Given the description of an element on the screen output the (x, y) to click on. 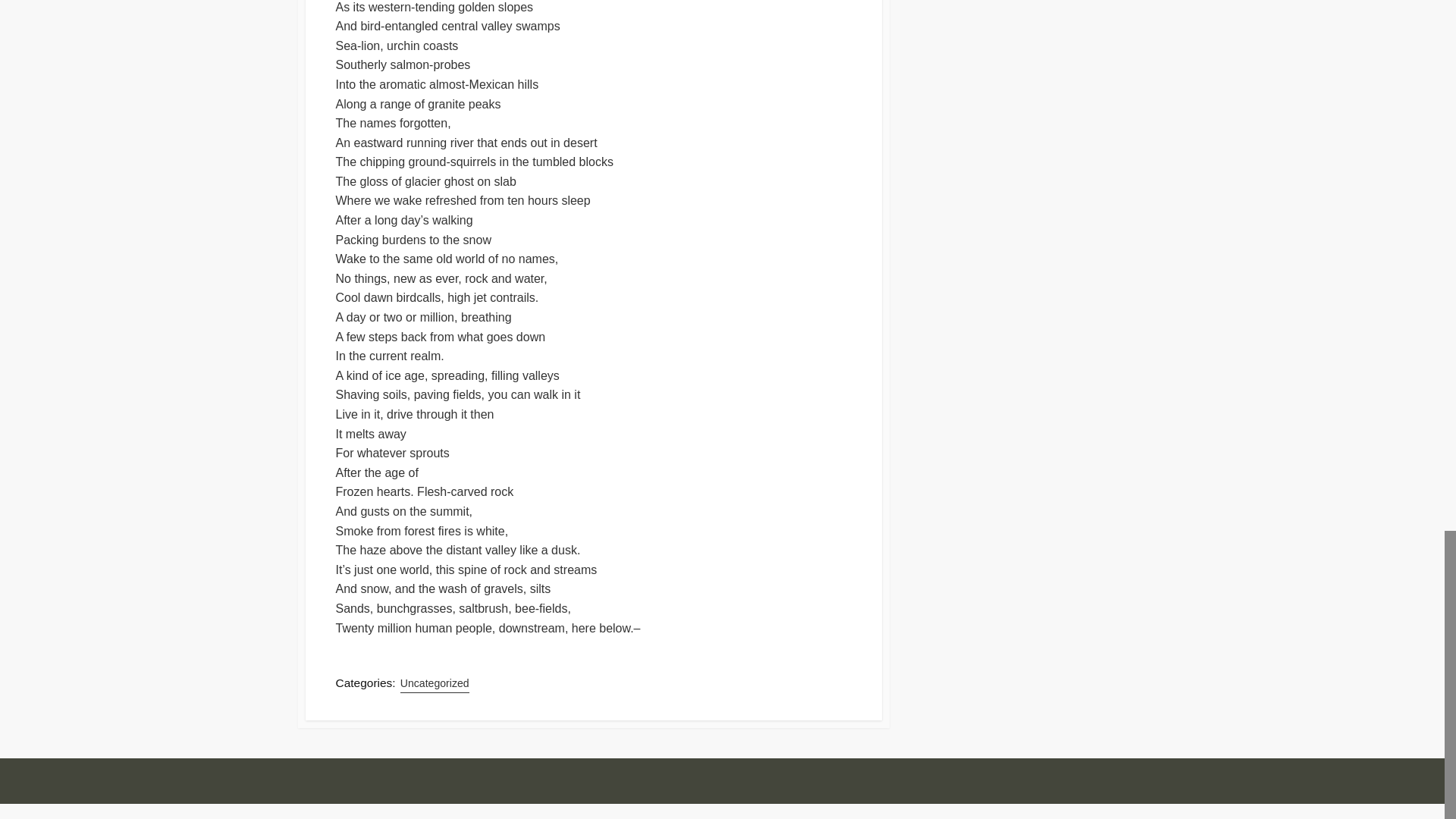
Uncategorized (434, 683)
